Given the description of an element on the screen output the (x, y) to click on. 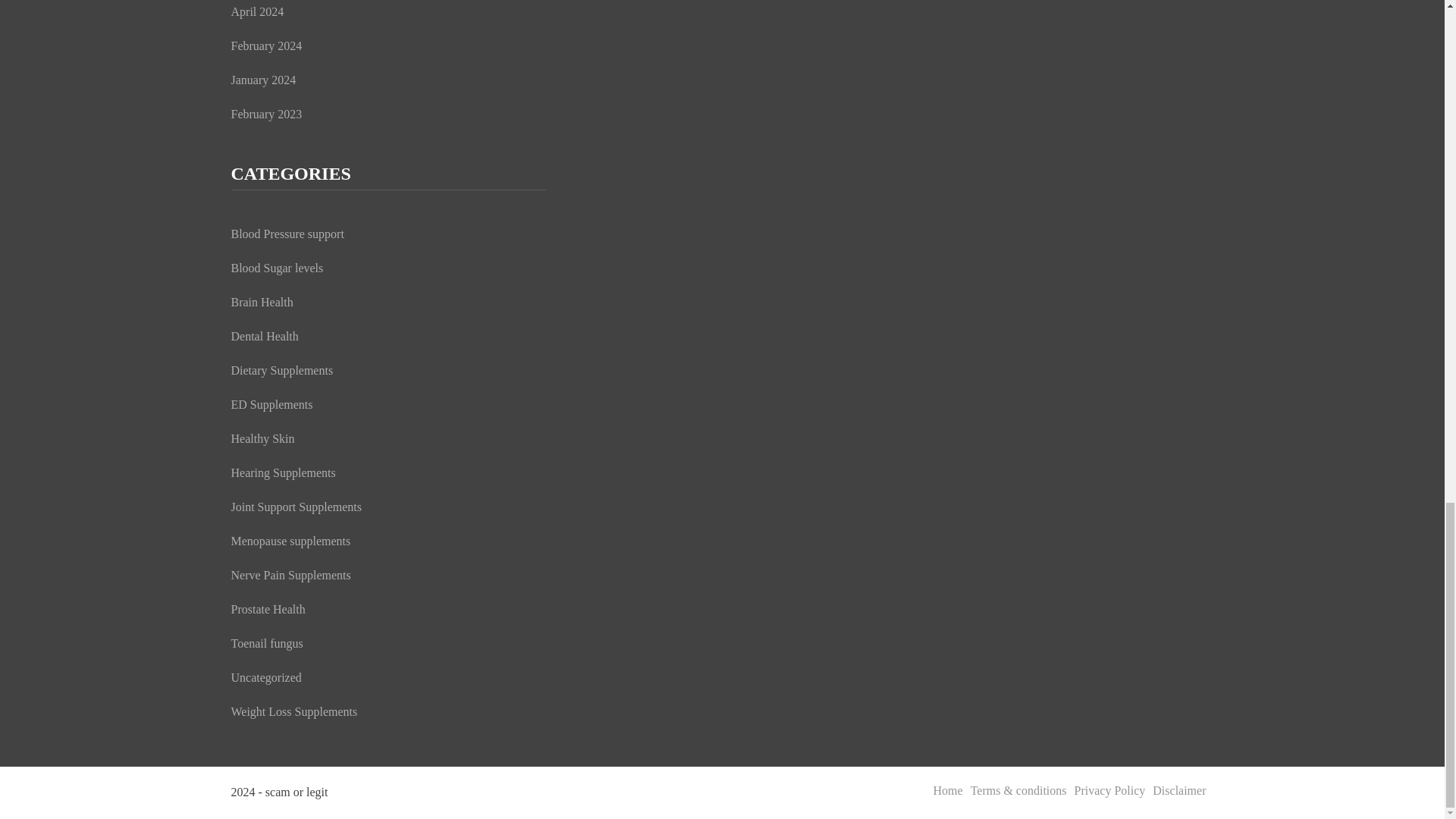
Uncategorized (265, 676)
Blood Sugar levels (276, 267)
Menopause supplements (290, 540)
ED Supplements (271, 404)
Joint Support Supplements (295, 506)
Blood Pressure support (286, 233)
February 2023 (265, 113)
February 2024 (265, 45)
Dietary Supplements (281, 369)
Brain Health (261, 301)
Healthy Skin (262, 438)
Hearing Supplements (282, 472)
January 2024 (262, 79)
April 2024 (256, 11)
Nerve Pain Supplements (290, 574)
